Given the description of an element on the screen output the (x, y) to click on. 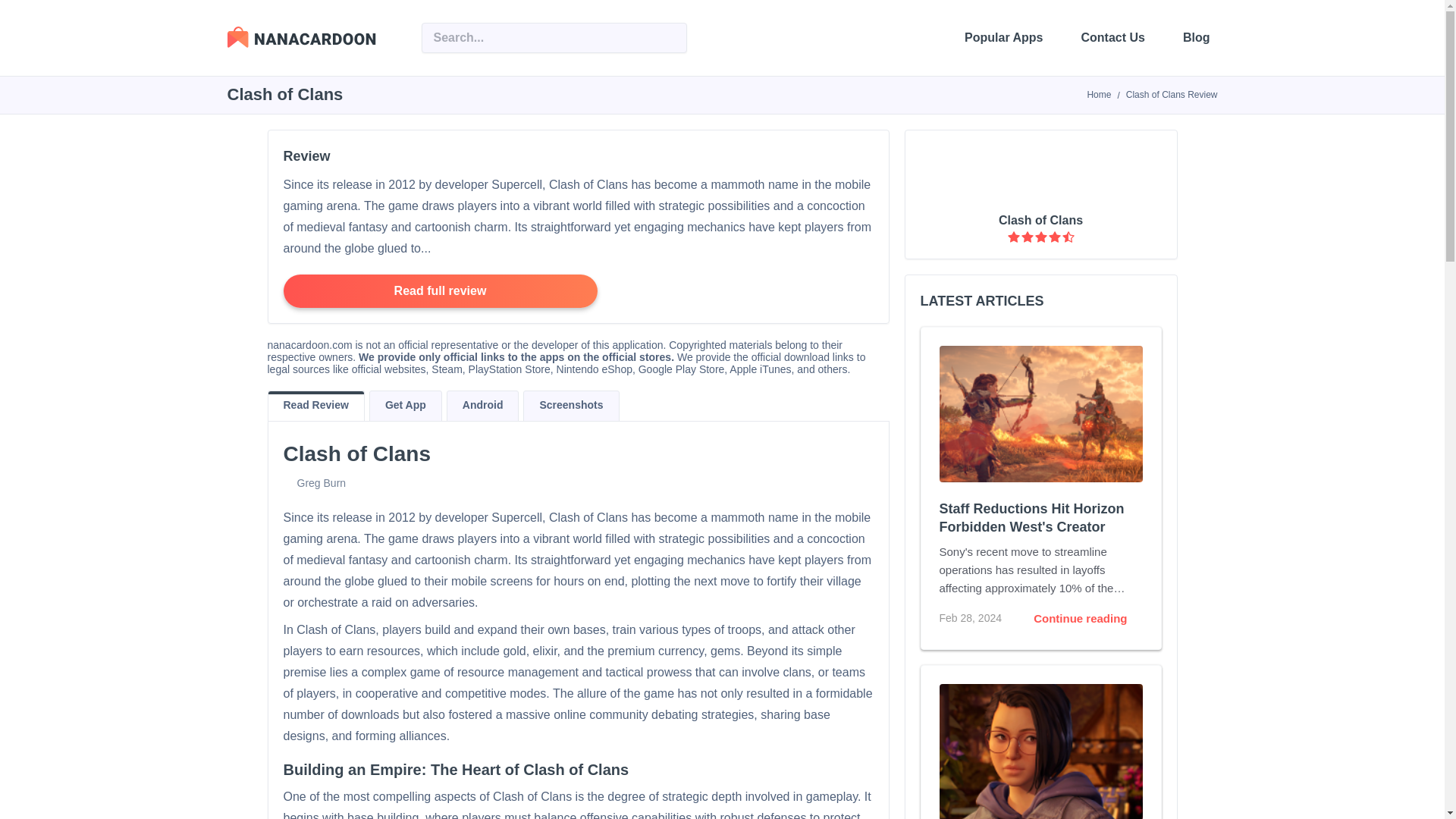
User rating 4.5 (1040, 236)
Screenshots (570, 405)
Popular Apps (1002, 38)
Staff Reductions Hit Horizon Forbidden West's Creator (1040, 518)
Read full review (439, 290)
Get App (405, 405)
Home (1098, 94)
Read Review (315, 405)
Contact Us (1113, 38)
Android (482, 405)
